Given the description of an element on the screen output the (x, y) to click on. 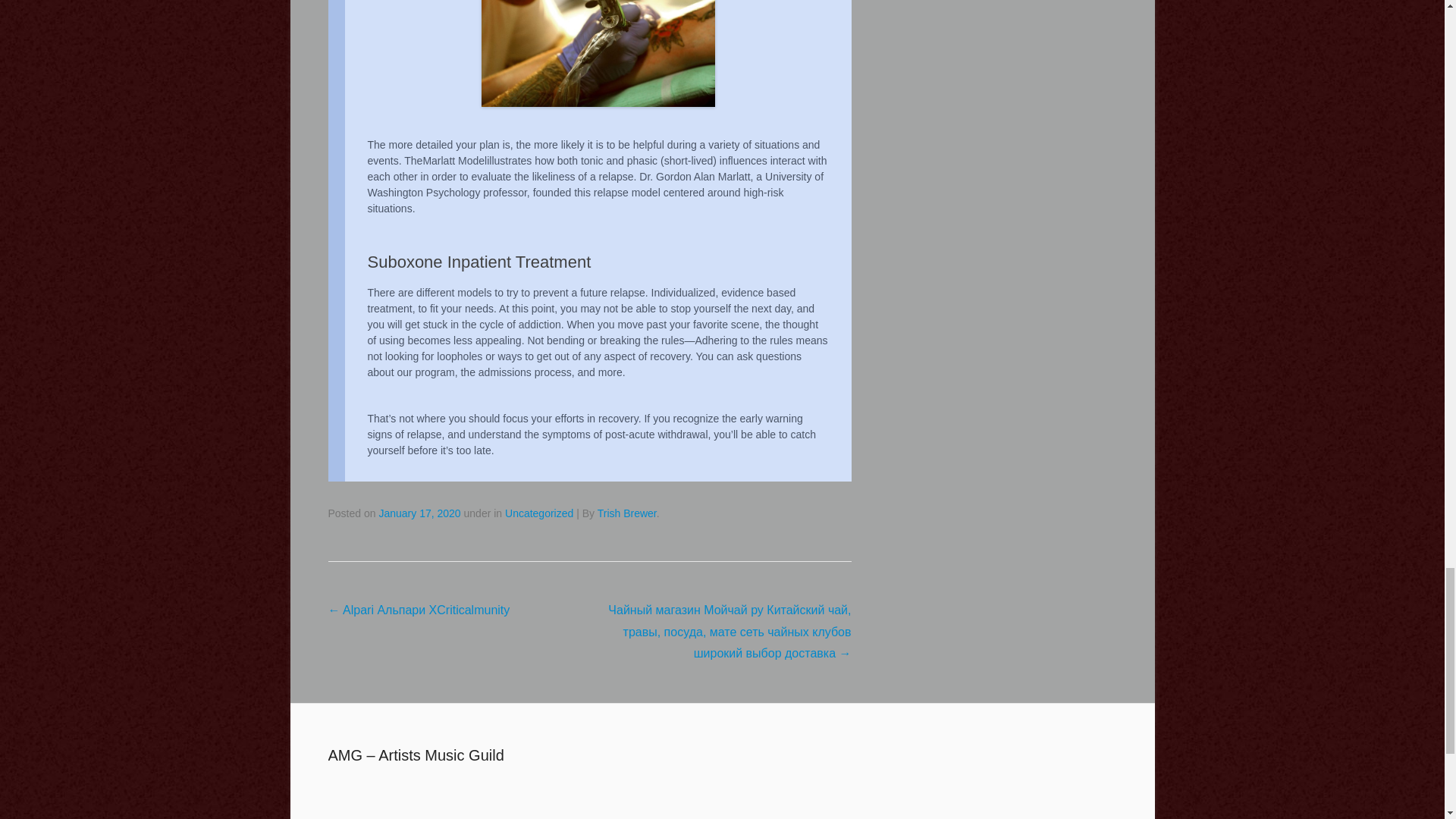
View all posts by Trish Brewer (626, 512)
Uncategorized (539, 512)
January 17, 2020 (419, 512)
2:02 am (419, 512)
Trish Brewer (626, 512)
